Given the description of an element on the screen output the (x, y) to click on. 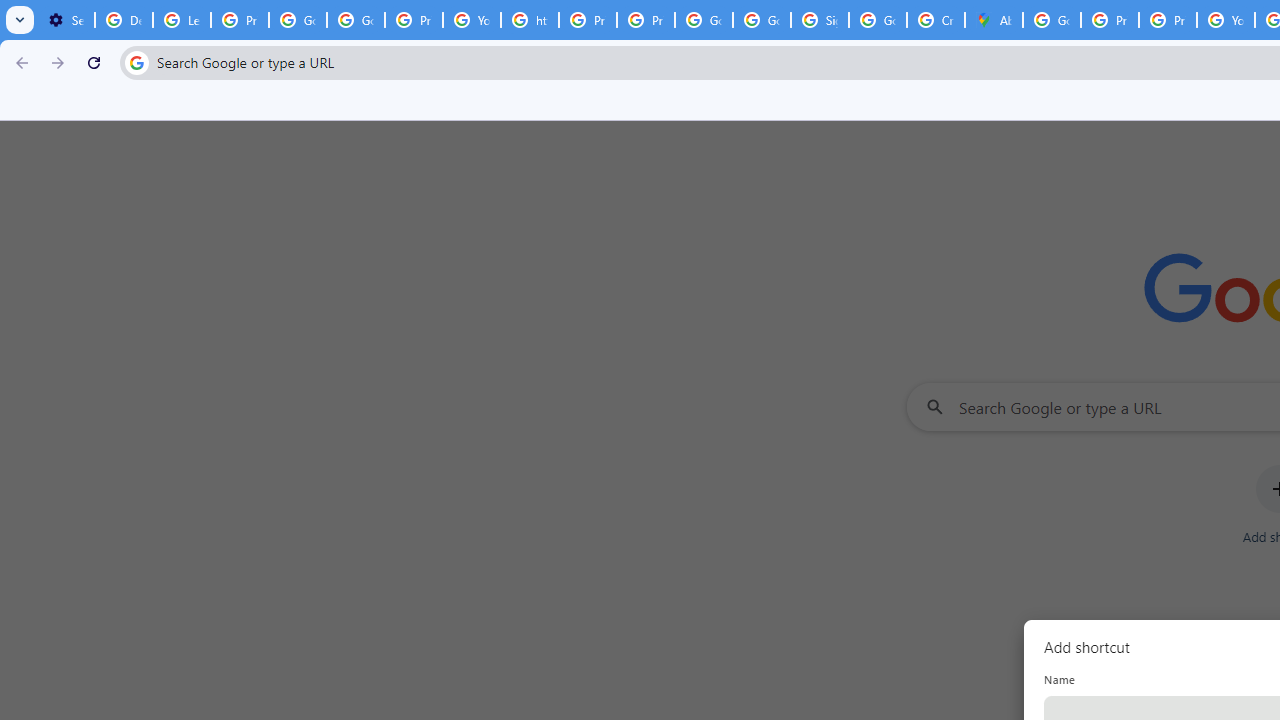
Learn how to find your photos - Google Photos Help (181, 20)
https://scholar.google.com/ (529, 20)
Sign in - Google Accounts (819, 20)
Search icon (136, 62)
Privacy Help Center - Policies Help (587, 20)
Settings - On startup (65, 20)
Google Account Help (355, 20)
Create your Google Account (936, 20)
Privacy Help Center - Policies Help (1167, 20)
